Given the description of an element on the screen output the (x, y) to click on. 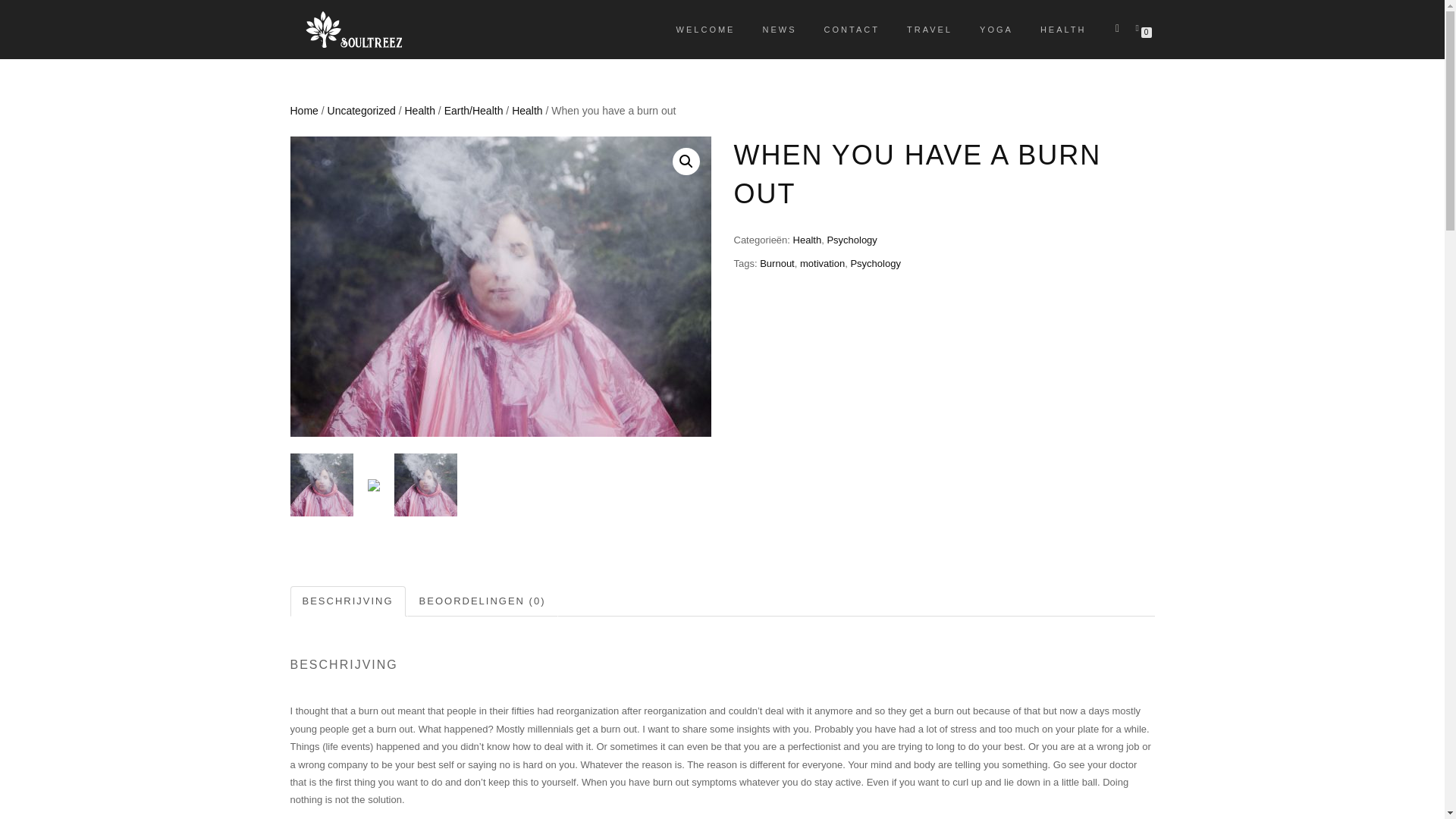
NEWS (779, 29)
Health (807, 239)
Psychology (851, 239)
WELCOME (705, 29)
Psychology (874, 263)
Home (303, 110)
Bekijk de winkelmand (1139, 26)
0 (1139, 26)
Burnout (777, 263)
YOGA (996, 29)
